Given the description of an element on the screen output the (x, y) to click on. 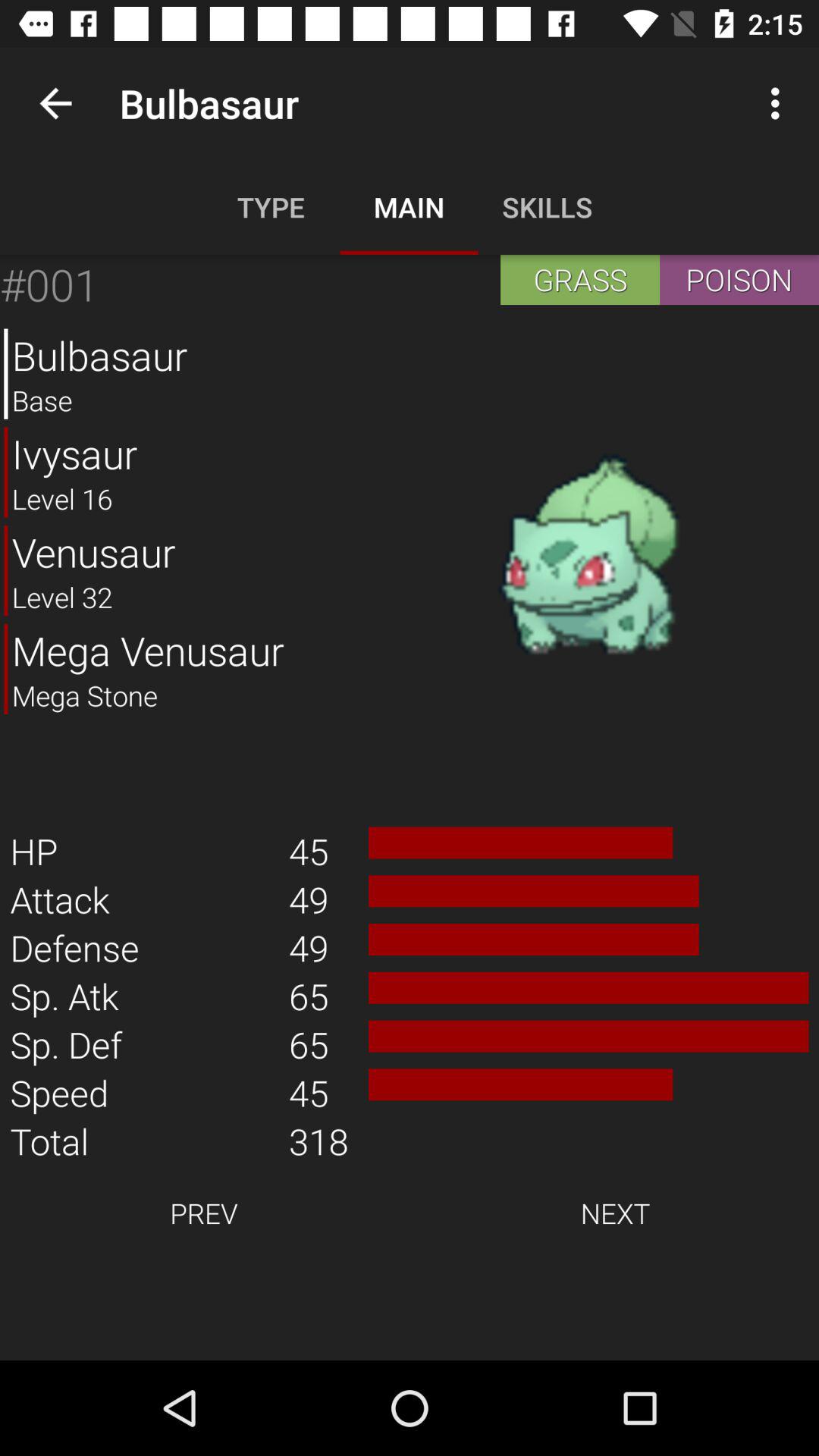
turn off the icon next to bulbasaur (588, 555)
